Given the description of an element on the screen output the (x, y) to click on. 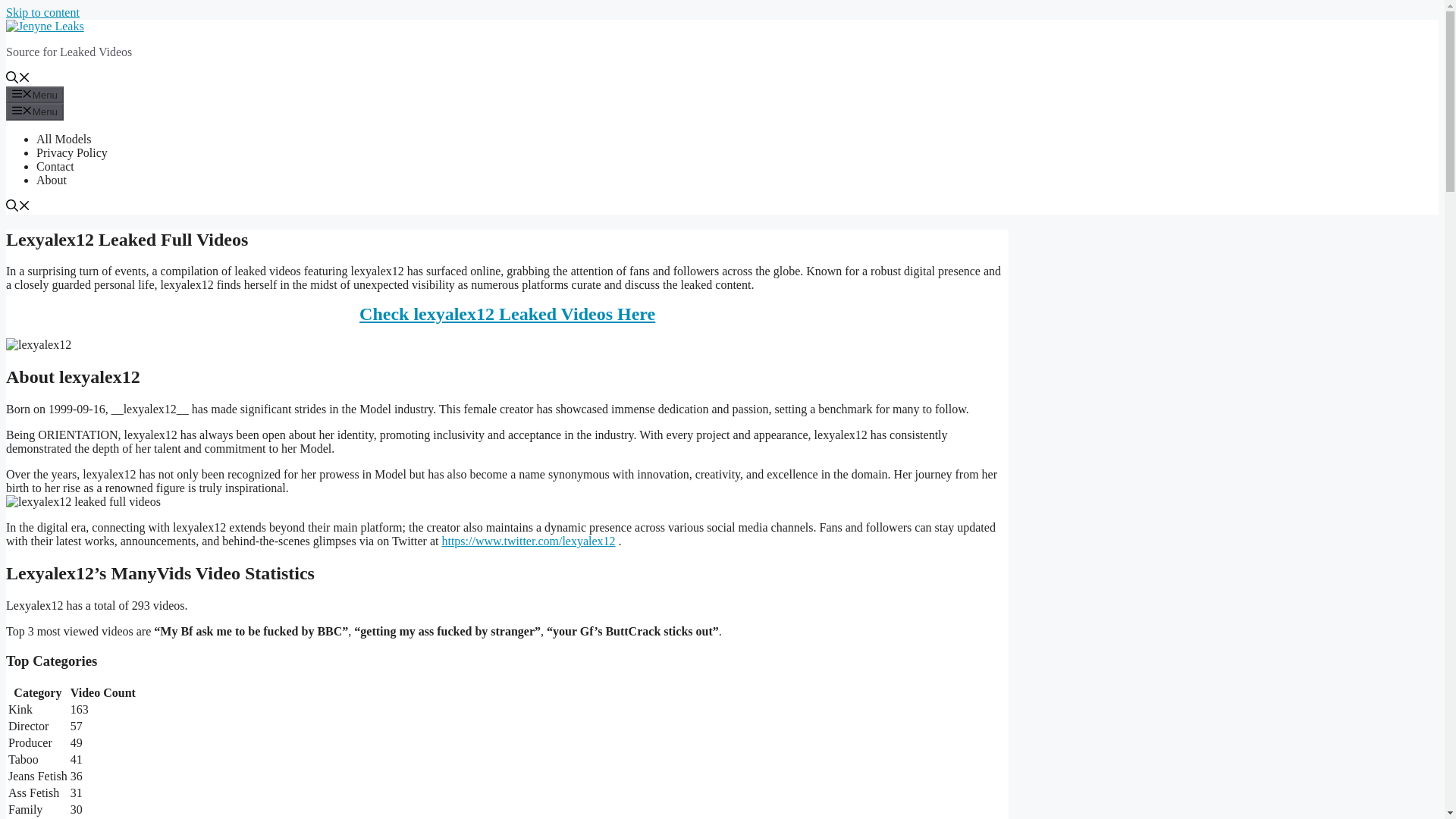
Skip to content (42, 11)
Check lexyalex12 Leaked Videos Here (507, 313)
Lexyalex12 Leaked Full Videos 1 (507, 345)
Skip to content (42, 11)
Lexyalex12 Leaked Full Videos 2 (507, 501)
All Models (63, 138)
Menu (34, 94)
About (51, 179)
Contact (55, 165)
Privacy Policy (71, 152)
